Given the description of an element on the screen output the (x, y) to click on. 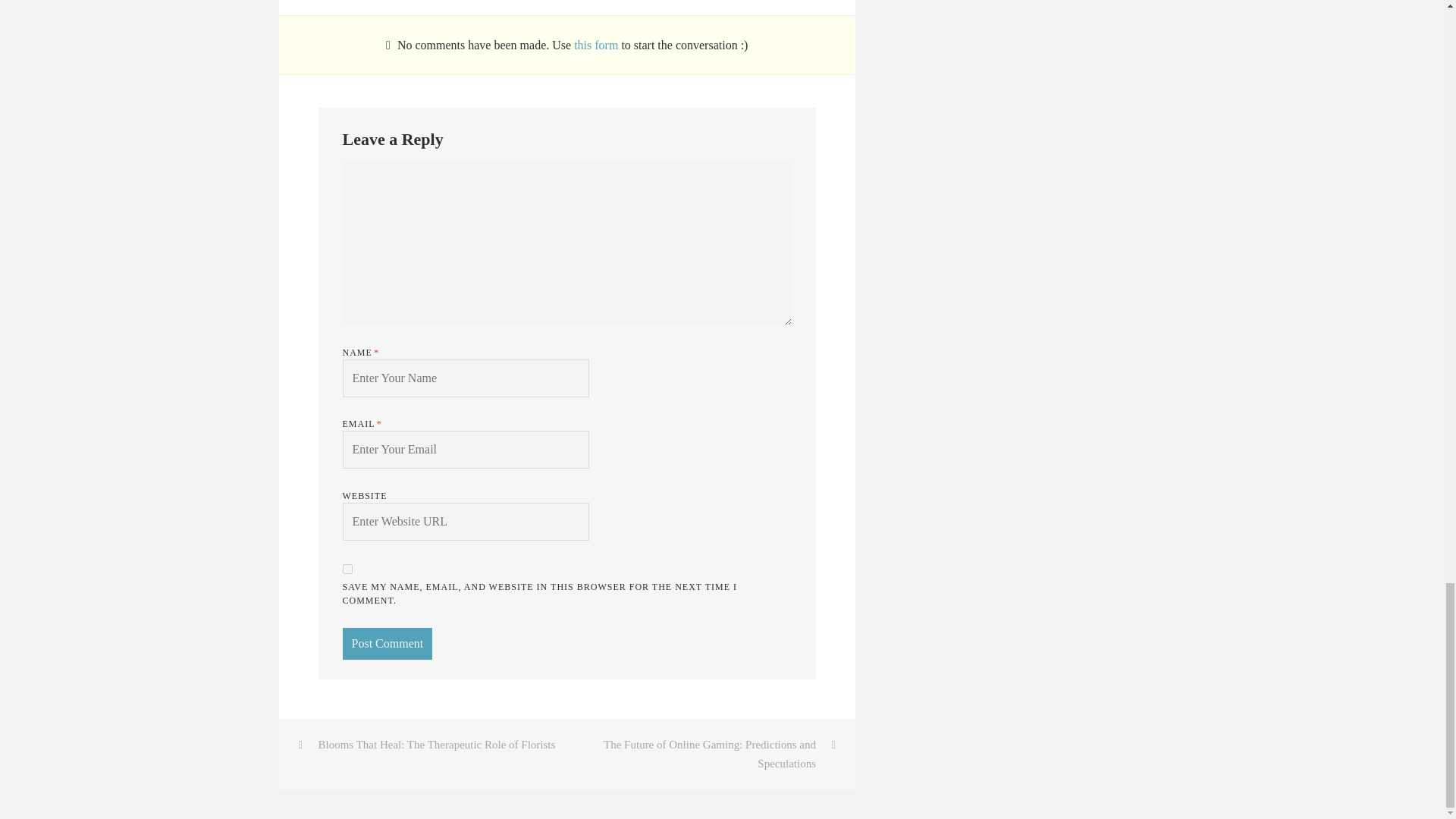
The Future of Online Gaming: Predictions and Speculations (711, 755)
Post Comment (387, 644)
Post Comment (387, 644)
yes (347, 569)
Blooms That Heal: The Therapeutic Role of Florists (423, 745)
this form (597, 44)
